Given the description of an element on the screen output the (x, y) to click on. 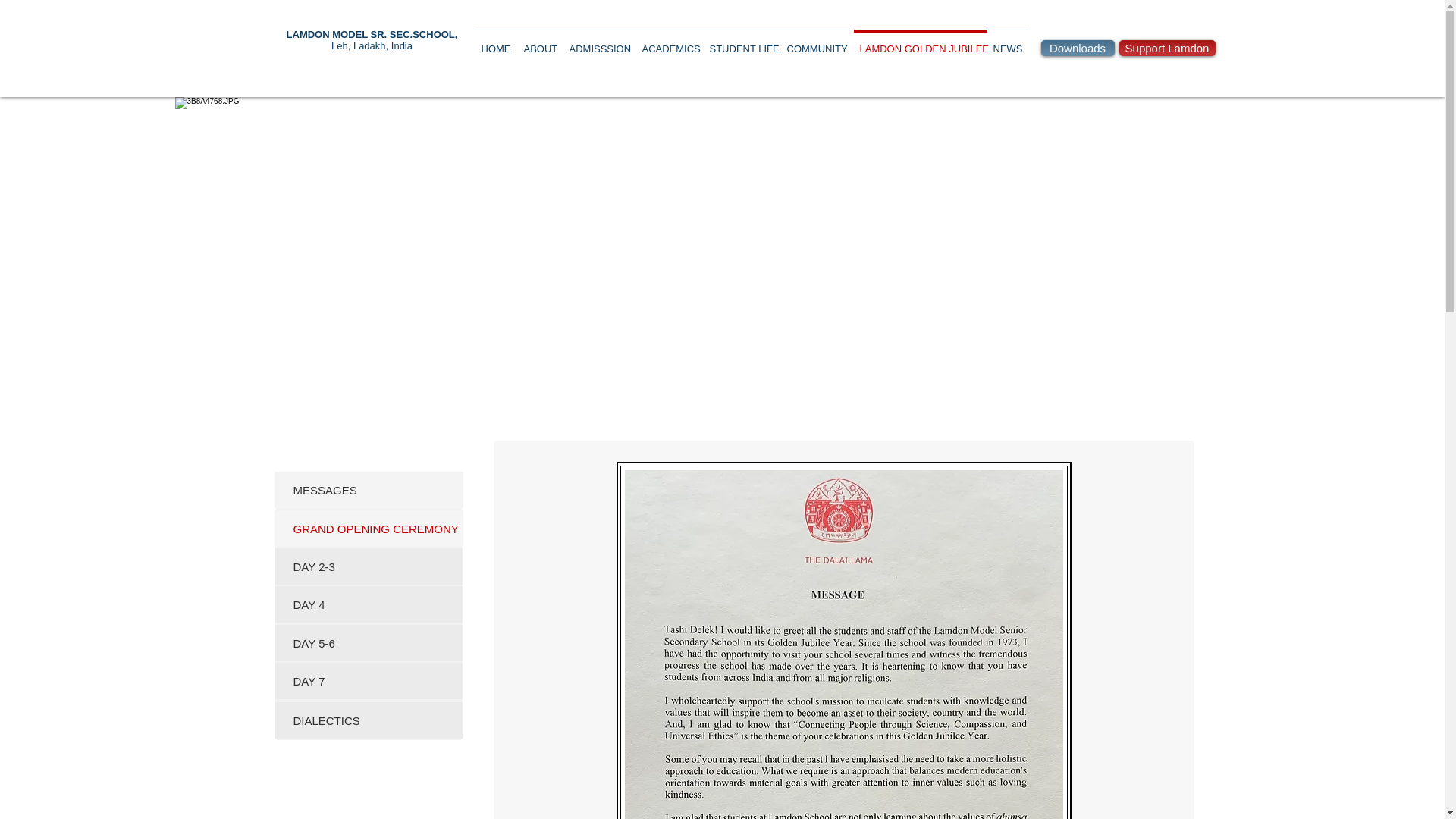
ACADEMICS (668, 41)
STUDENT LIFE (741, 41)
ABOUT (539, 41)
COMMUNITY (816, 41)
ADMISSSION (598, 41)
HOME (496, 41)
